Given the description of an element on the screen output the (x, y) to click on. 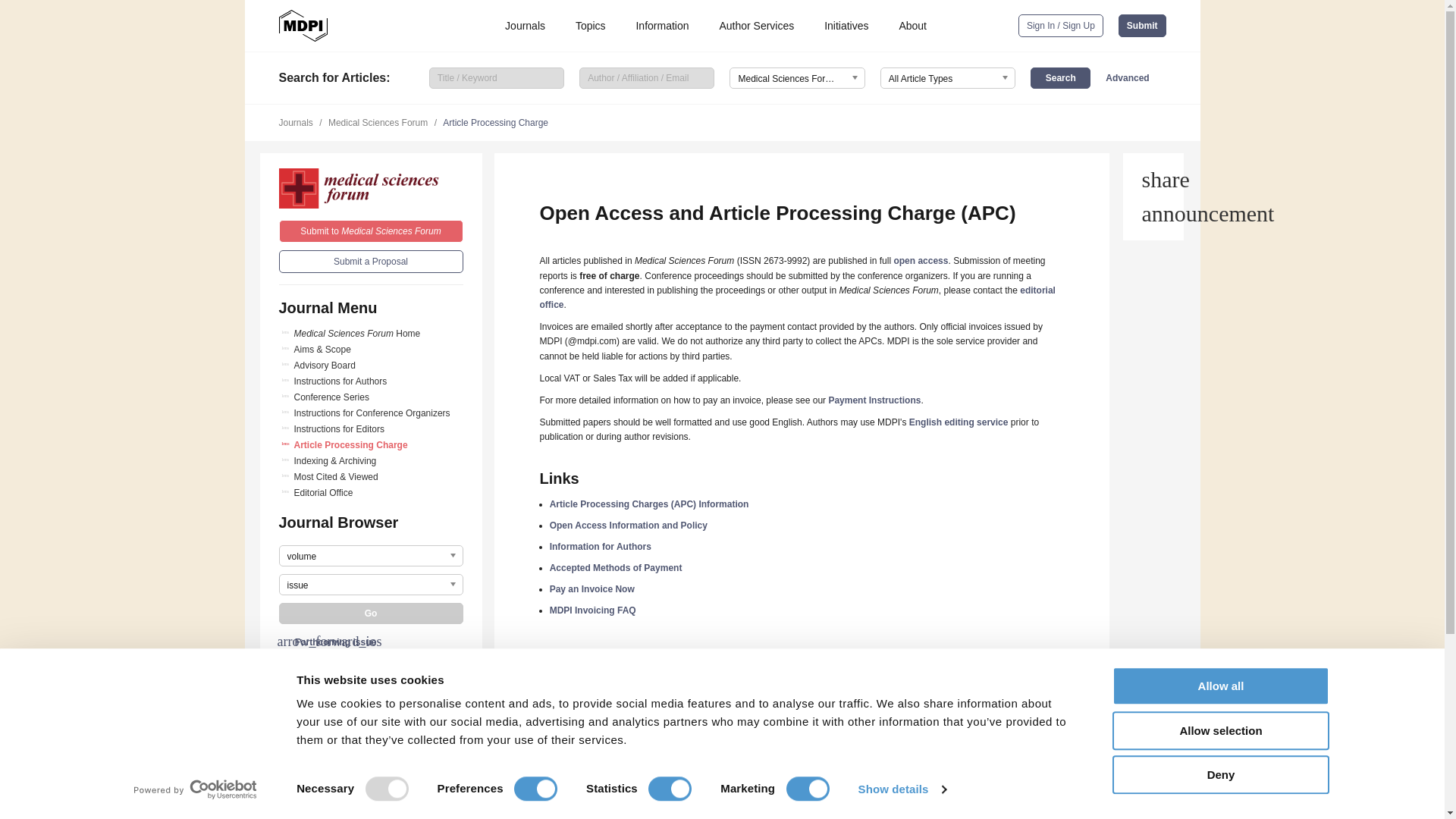
Search (1060, 77)
Search (1060, 77)
Go (371, 613)
Show details (900, 789)
